Given the description of an element on the screen output the (x, y) to click on. 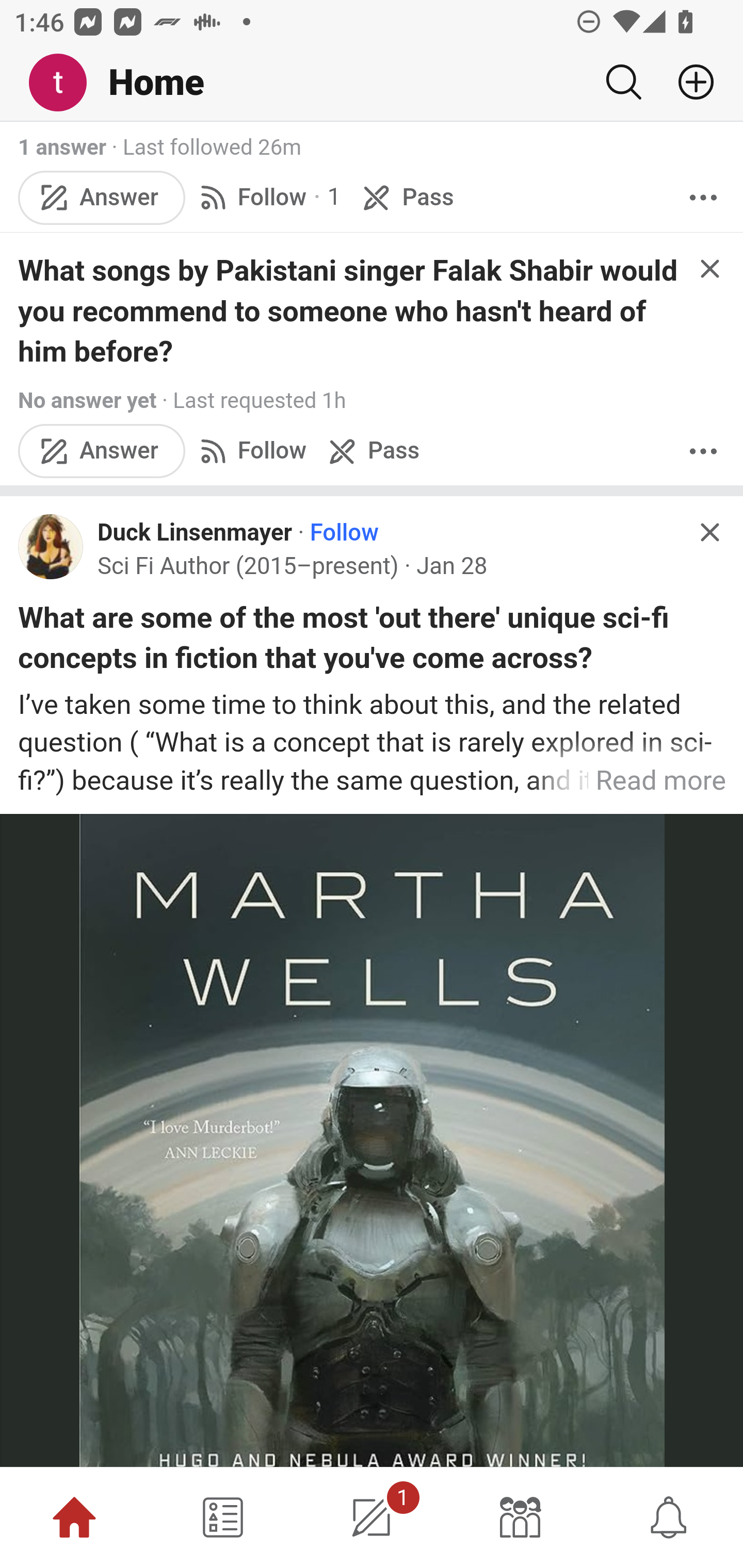
Me (64, 83)
Search (623, 82)
Add (688, 82)
1 answer 1  answer (62, 147)
Answer (101, 197)
Follow · 1 (267, 197)
Pass (405, 197)
More (703, 197)
Hide (709, 269)
No answer yet (86, 401)
Answer (101, 452)
Follow (249, 452)
Pass (371, 452)
More (703, 452)
Hide (709, 533)
Profile photo for Duck Linsenmayer (50, 548)
Duck Linsenmayer (194, 534)
Follow (343, 534)
1 (371, 1517)
